Given the description of an element on the screen output the (x, y) to click on. 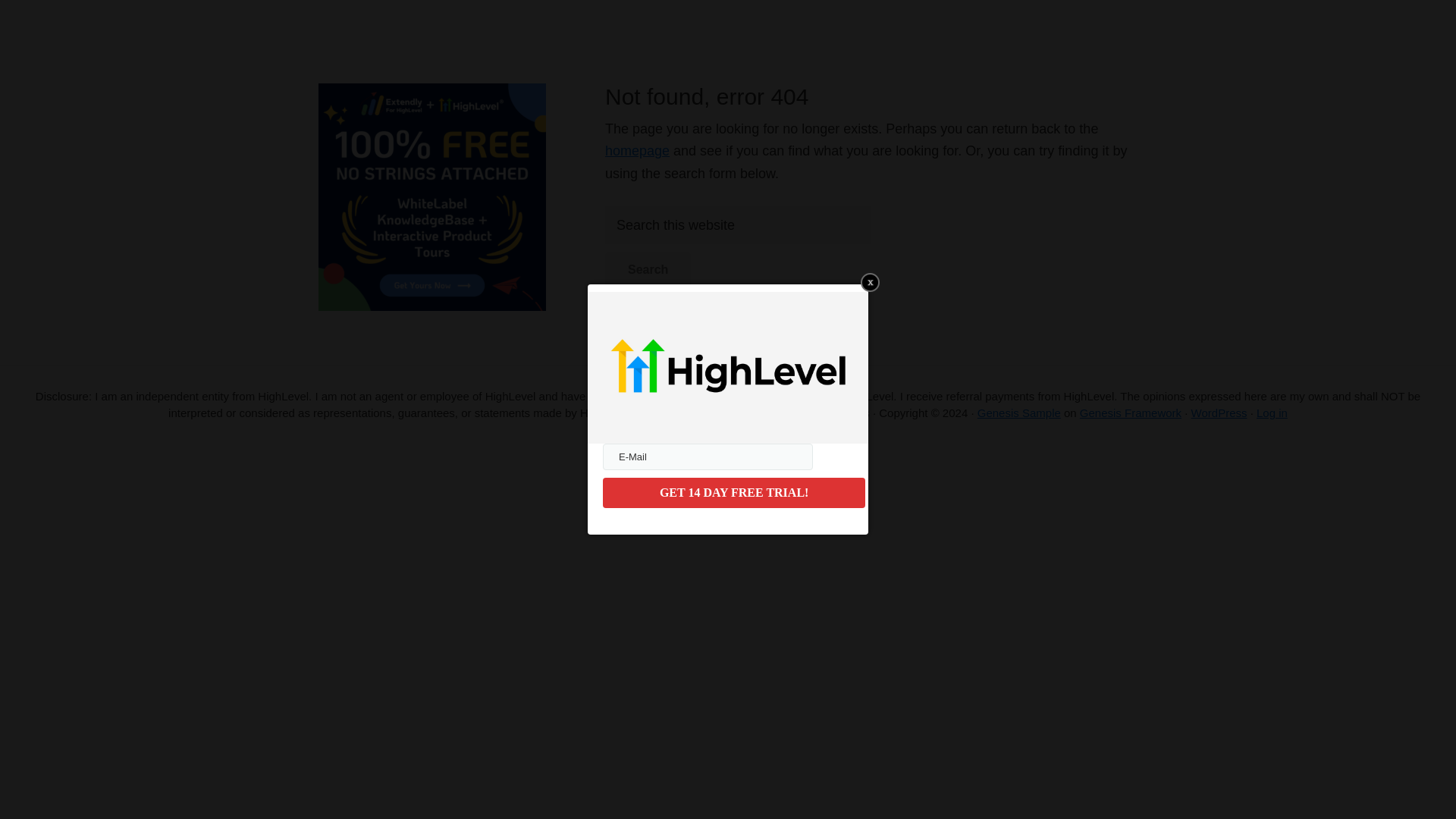
Log in (1271, 412)
Search (647, 269)
Search (647, 269)
homepage (637, 150)
Genesis Framework (1130, 412)
WordPress (1219, 412)
Genesis Sample (1018, 412)
Search (647, 269)
